Given the description of an element on the screen output the (x, y) to click on. 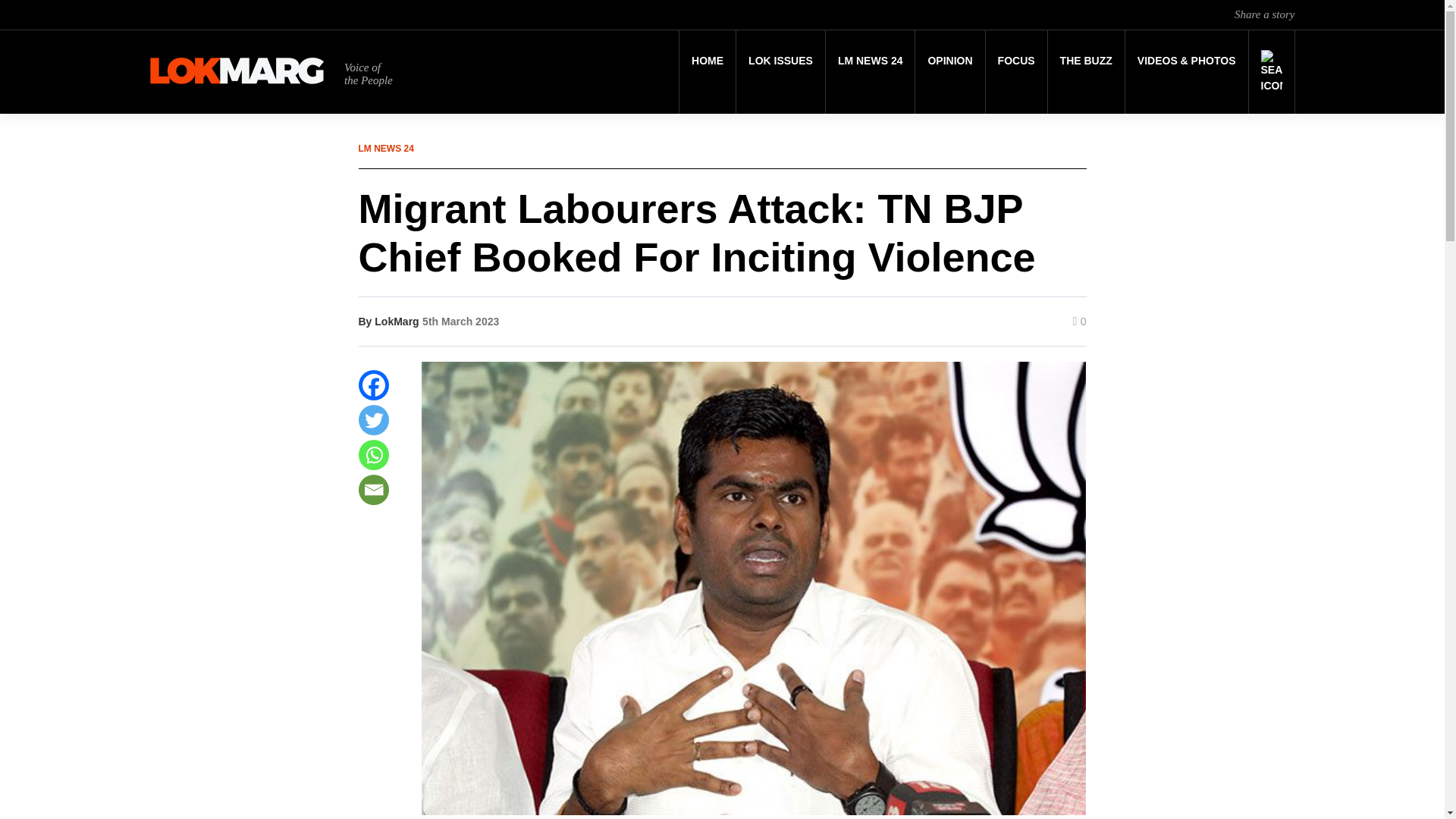
Home (707, 60)
THE BUZZ (1086, 60)
HOME (707, 60)
Share a story (1264, 14)
Twitter (373, 419)
LM News 24 (870, 60)
LokMarg (396, 321)
Focus (1015, 60)
FOCUS (1015, 60)
OPINION (949, 60)
LM NEWS 24 (870, 60)
THE BUZZ (1086, 60)
Opinion (949, 60)
Lok Issues (780, 60)
Whatsapp (373, 454)
